Given the description of an element on the screen output the (x, y) to click on. 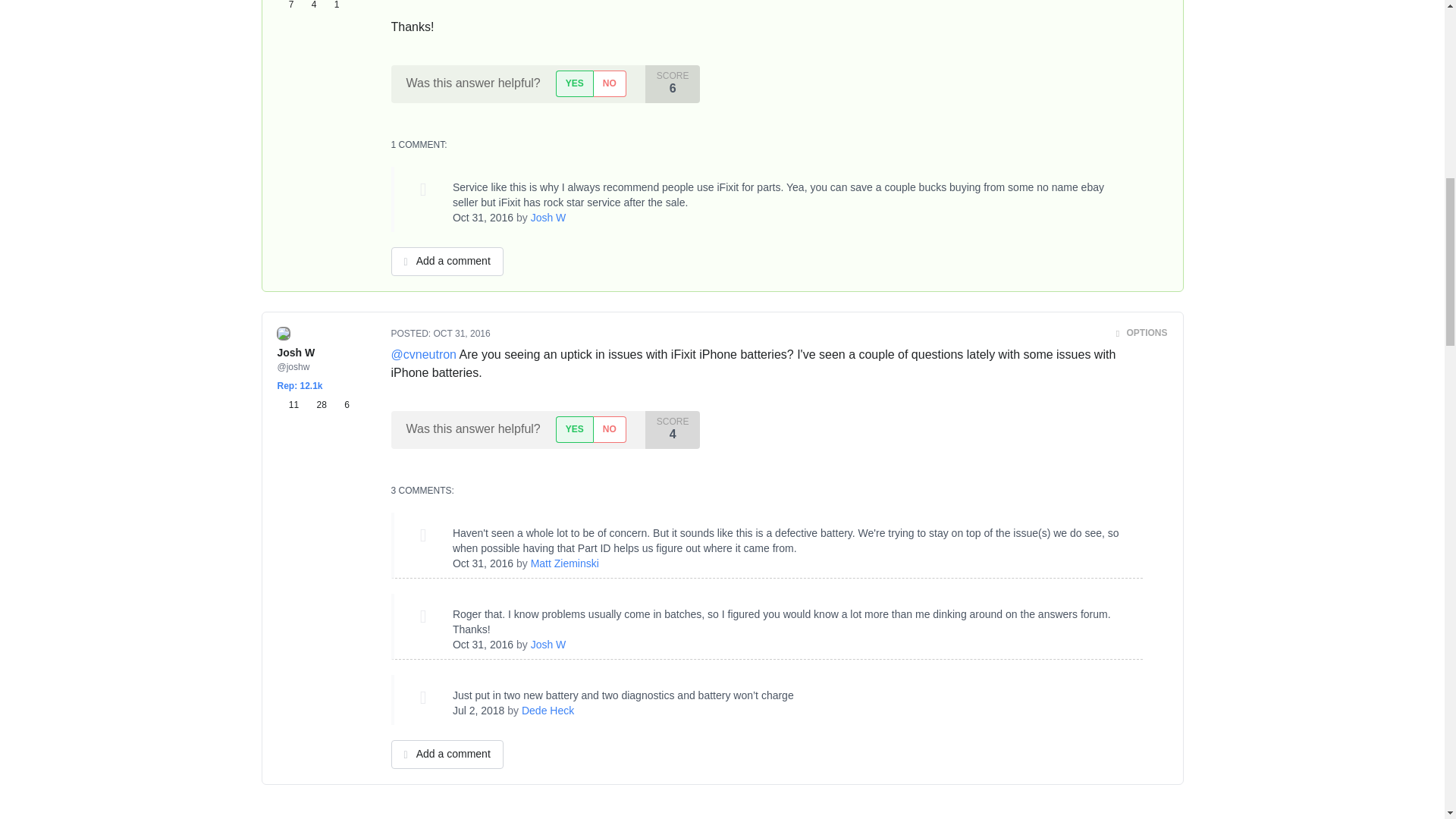
7 Bronze badges (288, 5)
NO (609, 83)
Mon, 31 Oct 2016 12:28:51 -0700 (482, 217)
28 Silver badges (318, 404)
Mon, 31 Oct 2016 11:41:34 -0700 (482, 563)
YES (574, 83)
Mon, 31 Oct 2016 12:17:35 -0700 (482, 644)
Mon, 02 Jul 2018 05:32:16 -0700 (478, 710)
4 Silver badges (311, 5)
6 Gold badges (341, 404)
1 Gold badges (331, 5)
7 4 1 (308, 5)
Mon, 31 Oct 2016 08:46:15 -0700 (461, 333)
11 Bronze badges (291, 404)
